Given the description of an element on the screen output the (x, y) to click on. 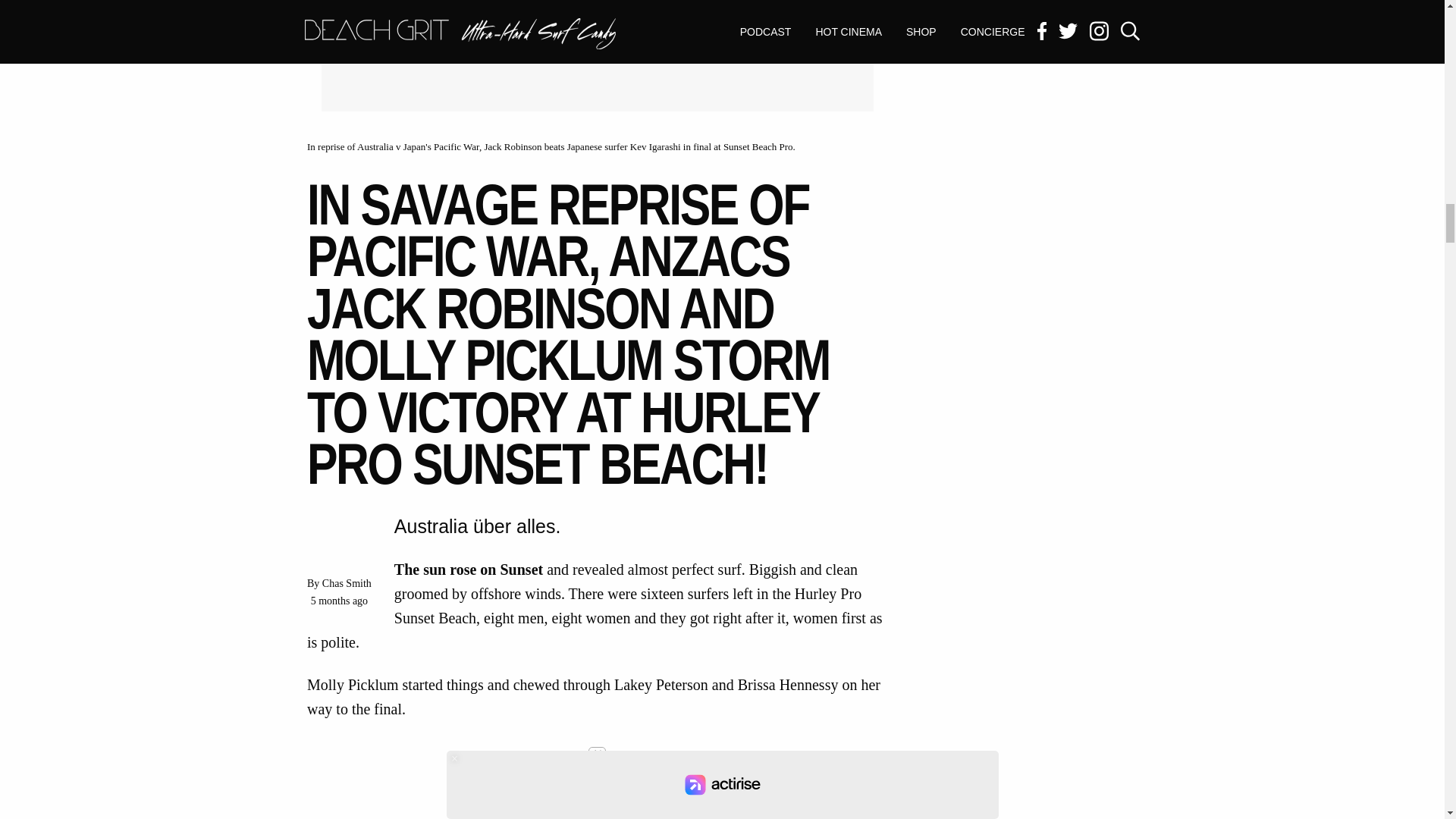
Chas Smith (346, 583)
